Given the description of an element on the screen output the (x, y) to click on. 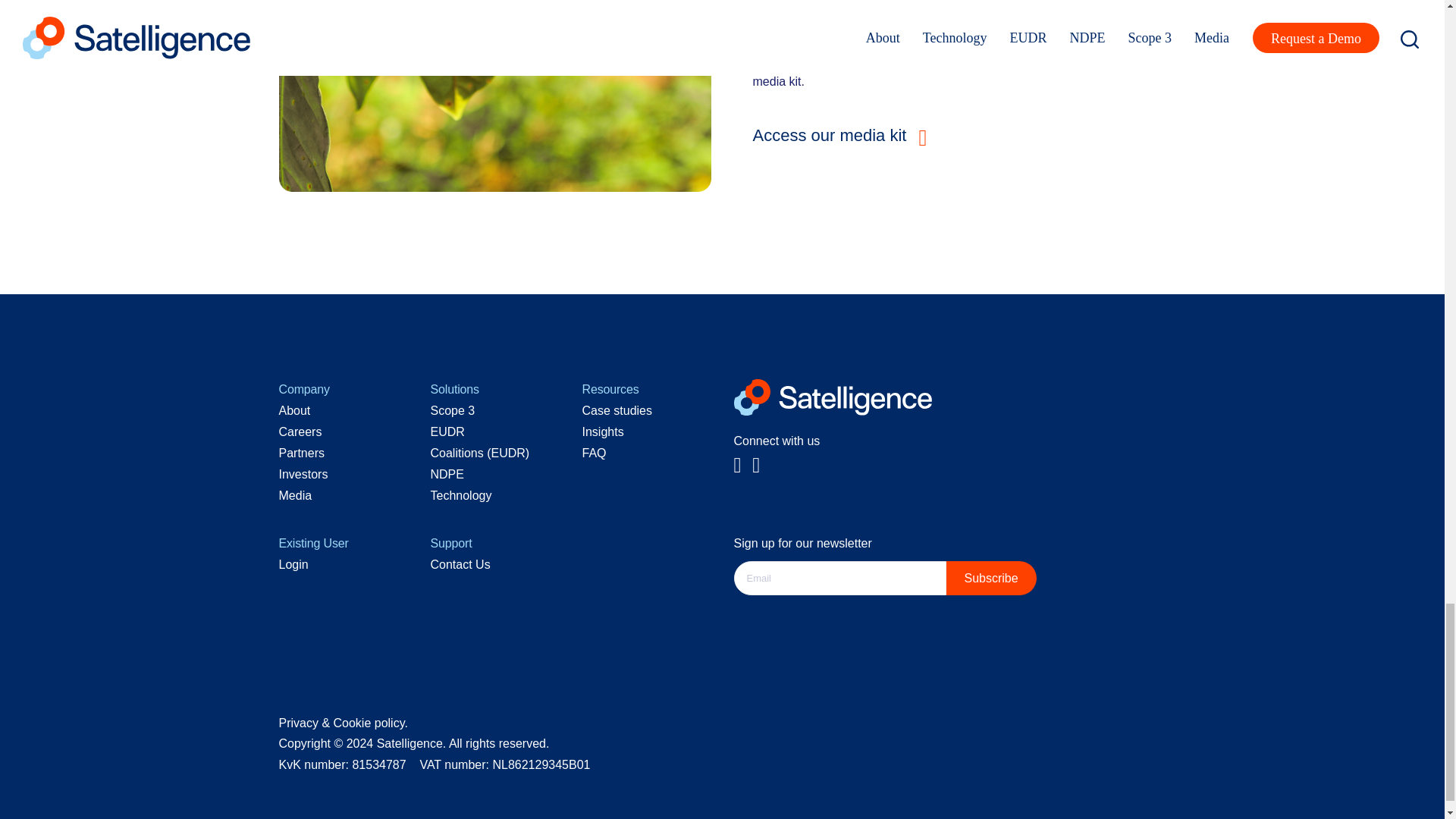
Scope 3 (453, 410)
Case studies (617, 410)
Rectangle 55 (495, 95)
Investors (304, 473)
EUDR (447, 431)
FAQ (594, 452)
About (295, 410)
Careers (300, 431)
Insights (603, 431)
Technology (461, 495)
satelligence-logo (832, 397)
Media (296, 495)
Subscribe (991, 578)
Partners (301, 452)
NDPE (447, 473)
